Given the description of an element on the screen output the (x, y) to click on. 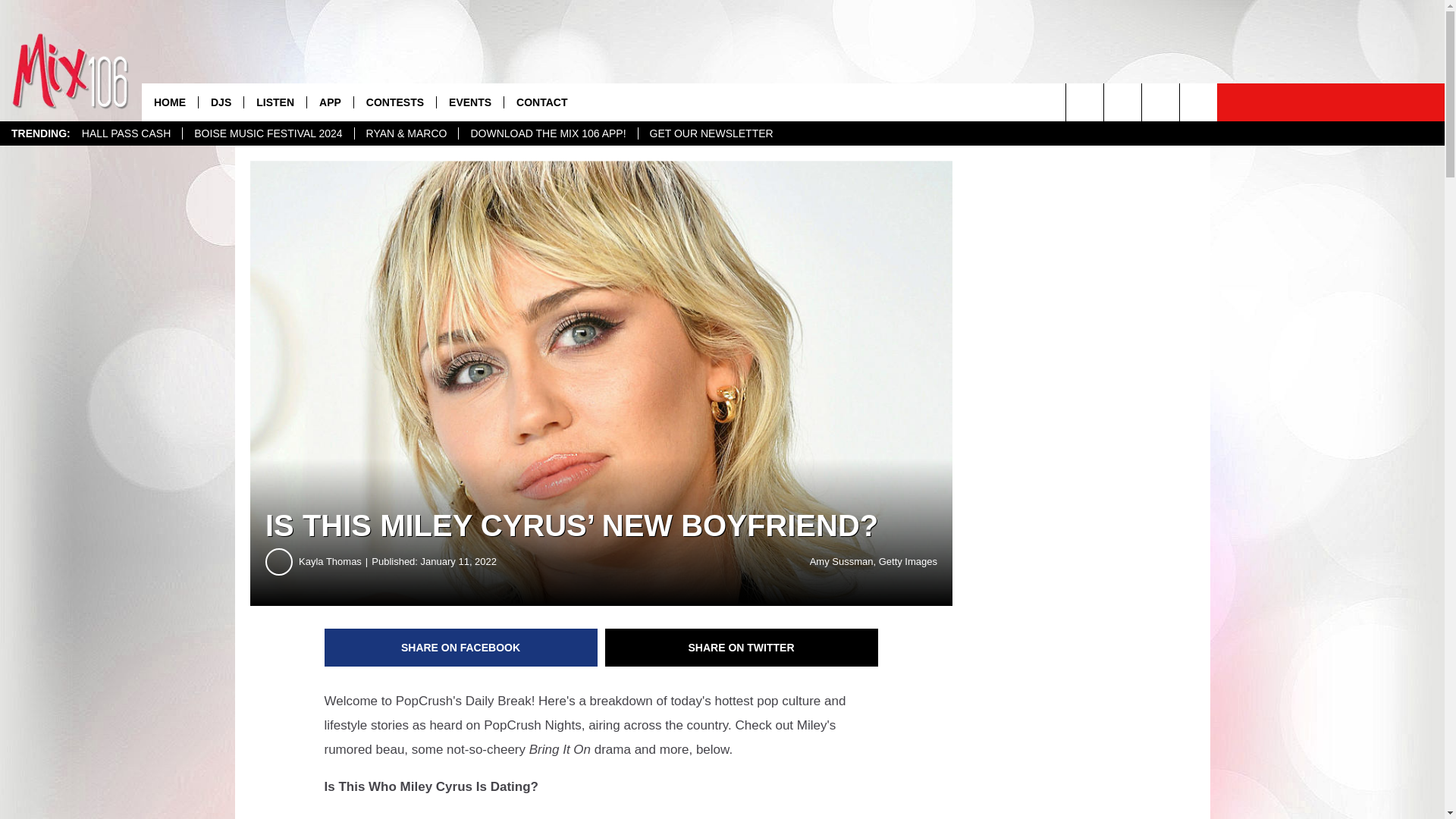
EVENTS (469, 102)
GET OUR NEWSLETTER (710, 133)
APP (329, 102)
CONTESTS (394, 102)
DOWNLOAD THE MIX 106 APP! (547, 133)
BOISE MUSIC FESTIVAL 2024 (267, 133)
Share on Twitter (741, 647)
DJS (220, 102)
HALL PASS CASH (126, 133)
CONTACT (541, 102)
